Given the description of an element on the screen output the (x, y) to click on. 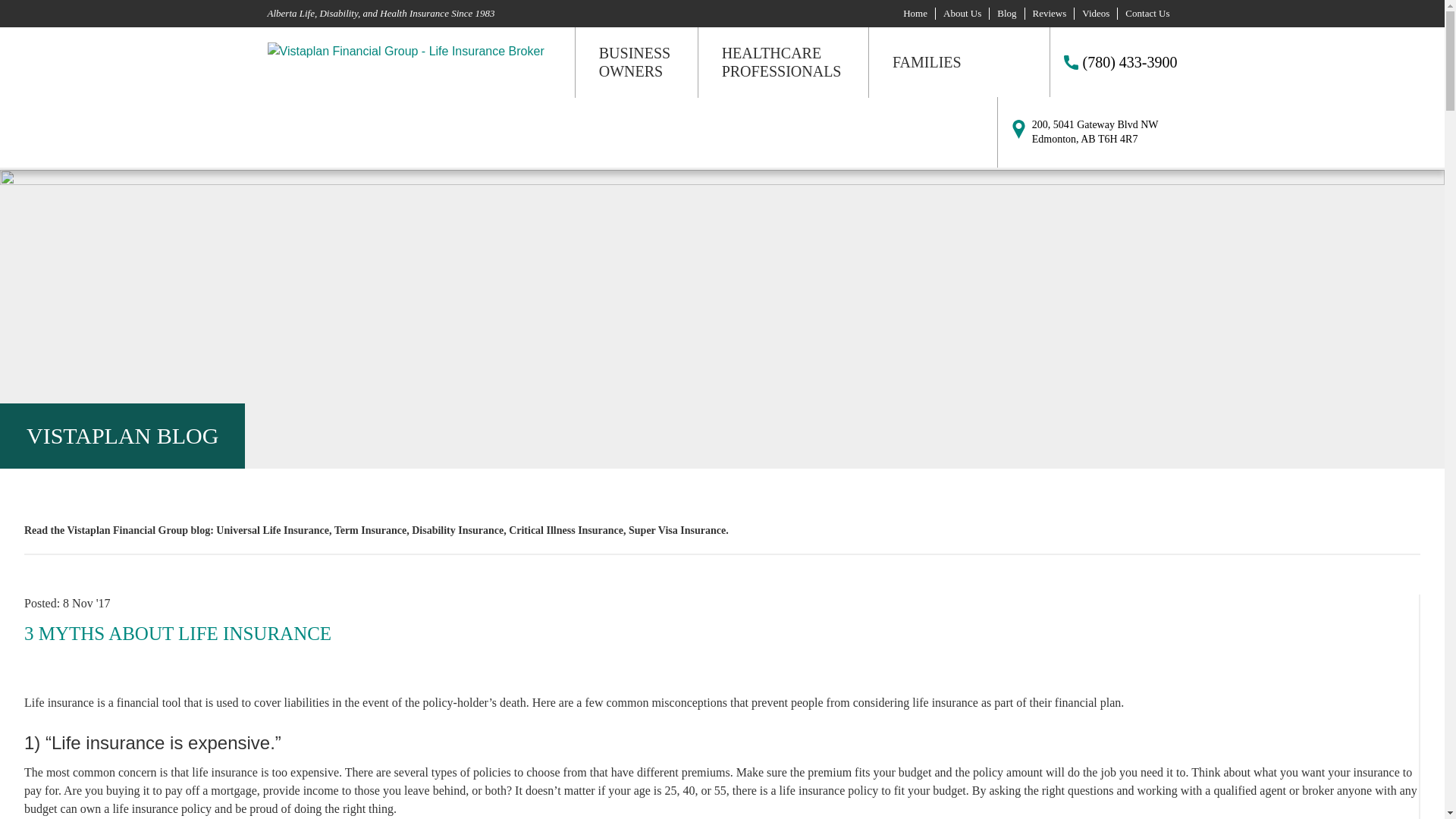
Home Element type: text (915, 13)
FAMILIES Element type: text (927, 62)
Blog Element type: text (1006, 13)
Contact Us Element type: text (1146, 13)
HEALTHCARE
PROFESSIONALS Element type: text (781, 62)
BUSINESS
OWNERS Element type: text (634, 62)
Reviews Element type: text (1049, 13)
About Us Element type: text (961, 13)
Videos Element type: text (1095, 13)
(780) 433-3900 Element type: text (1113, 62)
